Given the description of an element on the screen output the (x, y) to click on. 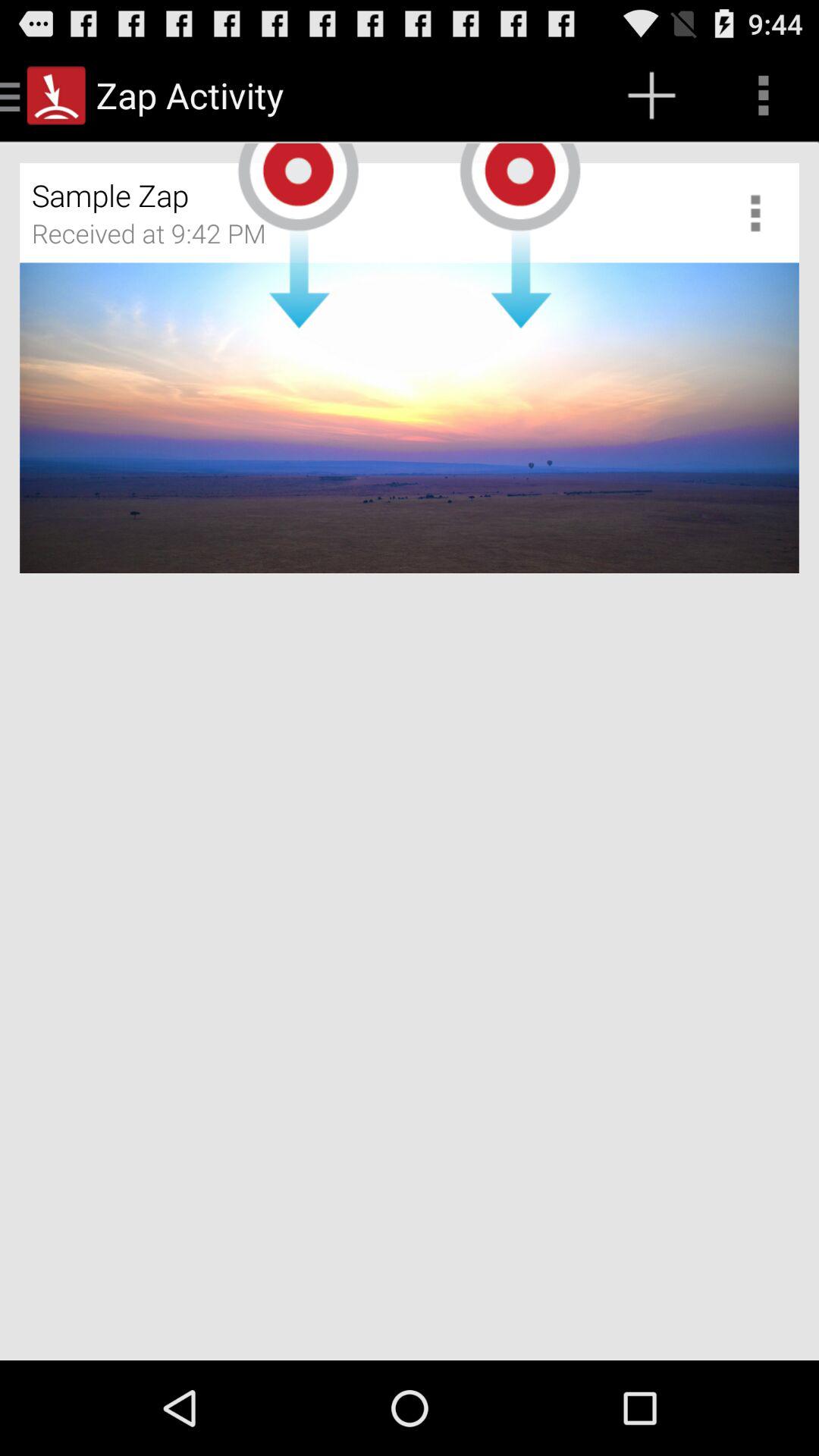
flip until received at 9 icon (158, 238)
